Given the description of an element on the screen output the (x, y) to click on. 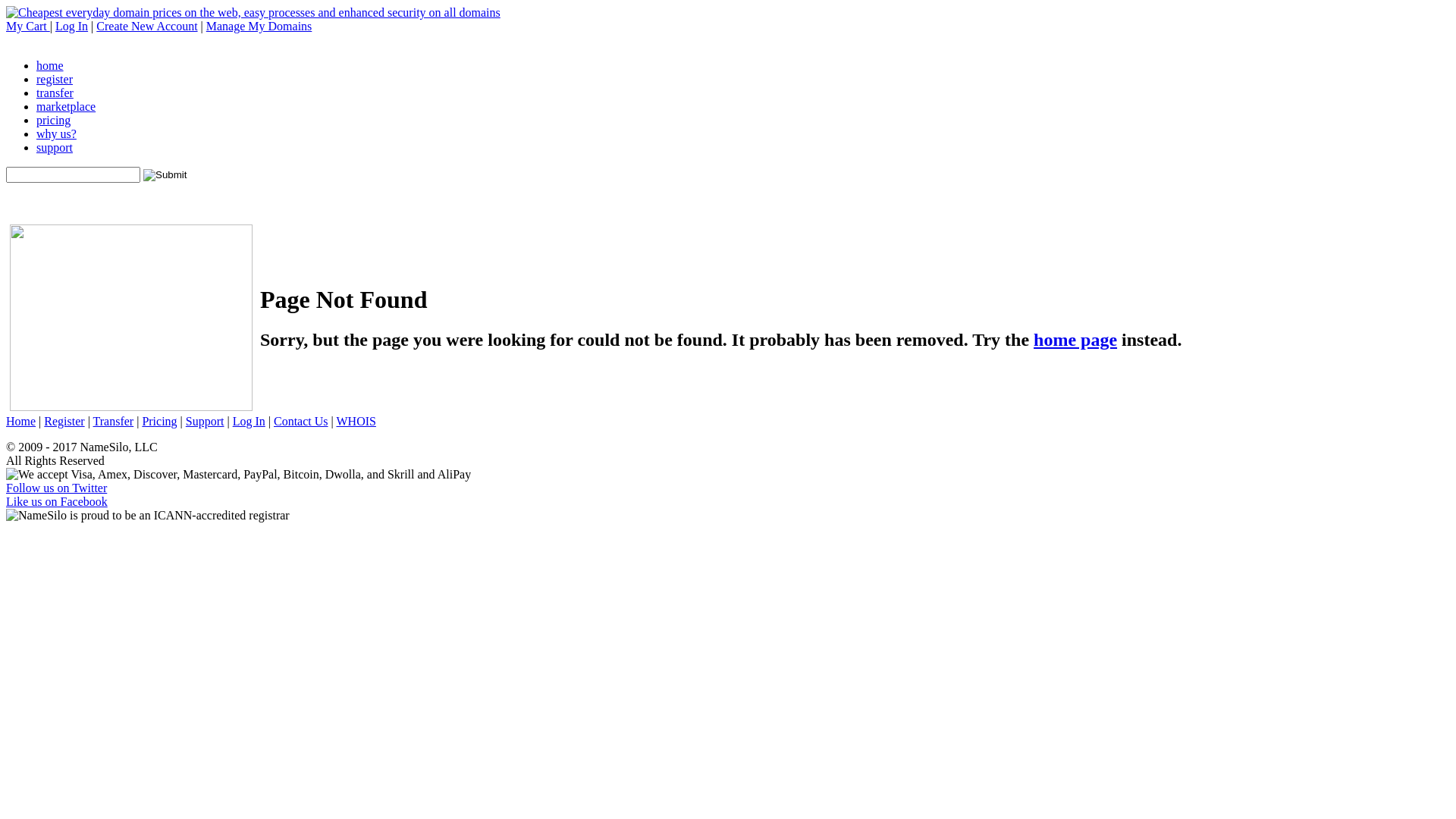
Manage My Domains Element type: text (259, 25)
Transfer Element type: text (113, 420)
pricing Element type: text (53, 119)
NameSilo is proud to be an ICANN-accredited registrar Element type: hover (147, 515)
My Cart Element type: text (28, 25)
transfer Element type: text (54, 92)
Support Element type: text (204, 420)
Contact Us Element type: text (300, 420)
why us? Element type: text (56, 133)
WHOIS Element type: text (355, 420)
Home Element type: text (20, 420)
home Element type: text (49, 65)
marketplace Element type: text (65, 106)
Register Element type: text (63, 420)
register Element type: text (54, 78)
support Element type: text (54, 147)
Log In Element type: text (71, 25)
Follow us on Twitter Element type: text (56, 487)
Like us on Facebook Element type: text (56, 501)
Create New Account Element type: text (146, 25)
Log In Element type: text (248, 420)
Pricing Element type: text (158, 420)
home page Element type: text (1075, 339)
